Given the description of an element on the screen output the (x, y) to click on. 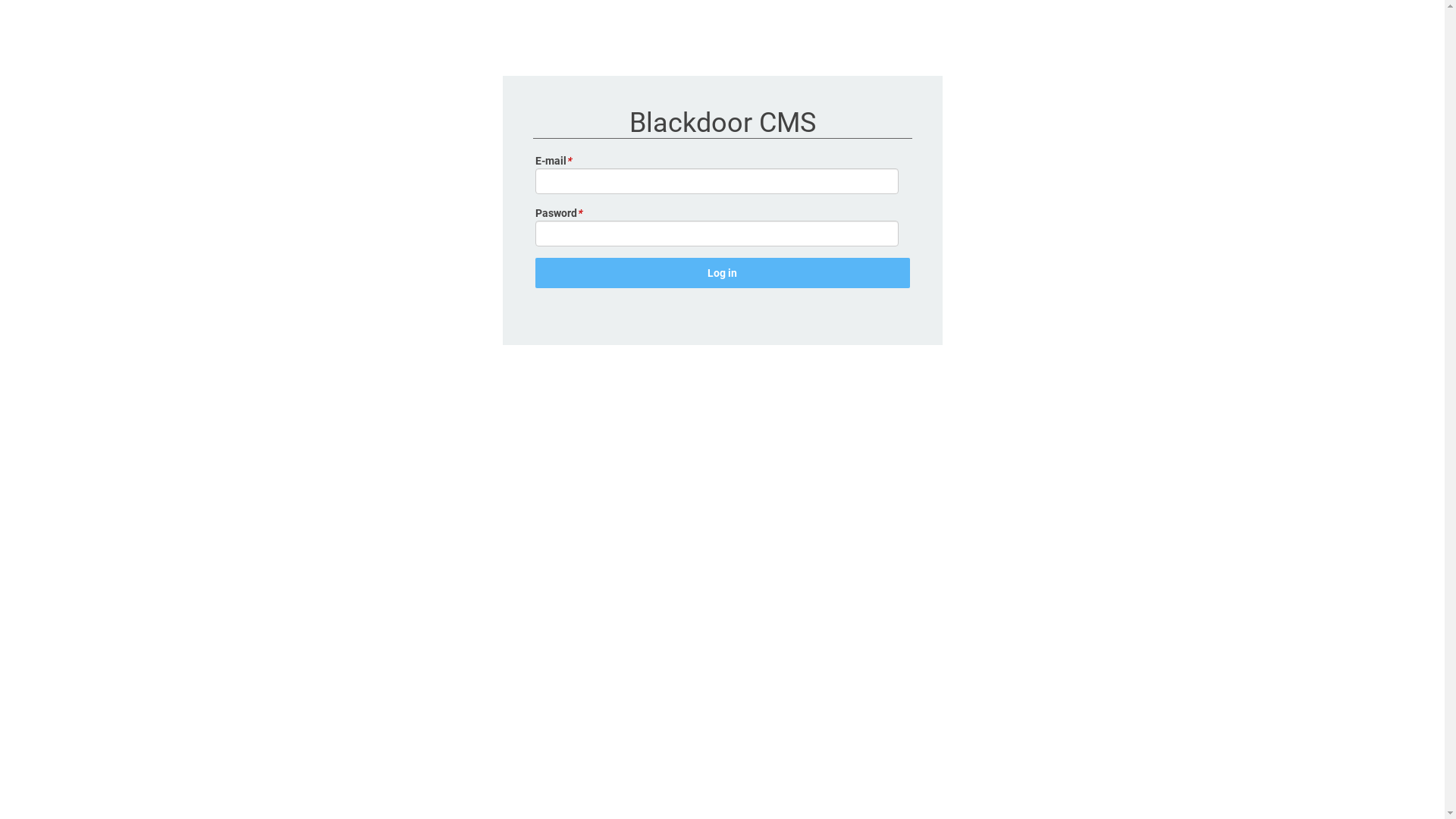
Log in Element type: text (722, 272)
